Given the description of an element on the screen output the (x, y) to click on. 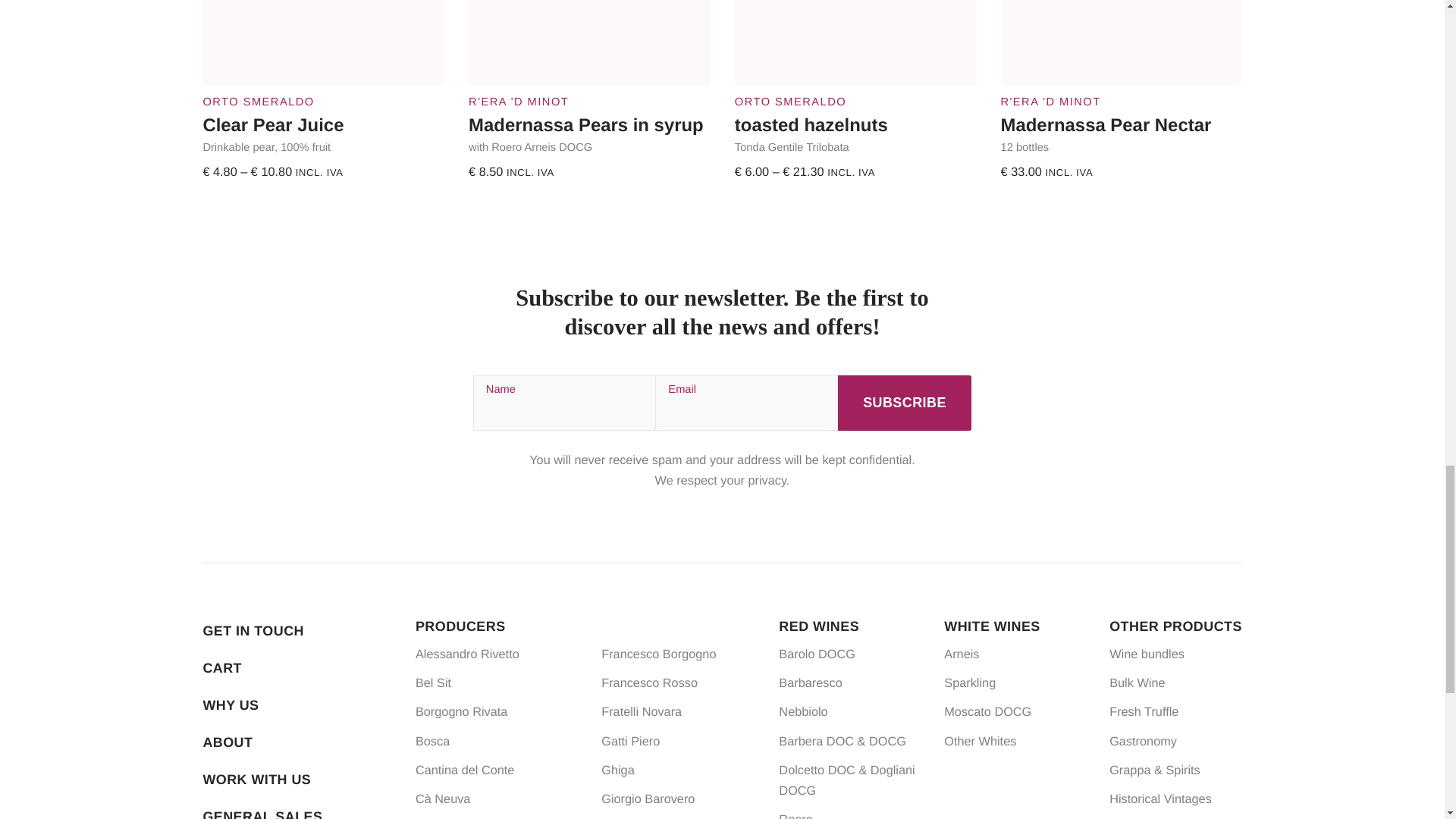
Subscribe (905, 402)
